Given the description of an element on the screen output the (x, y) to click on. 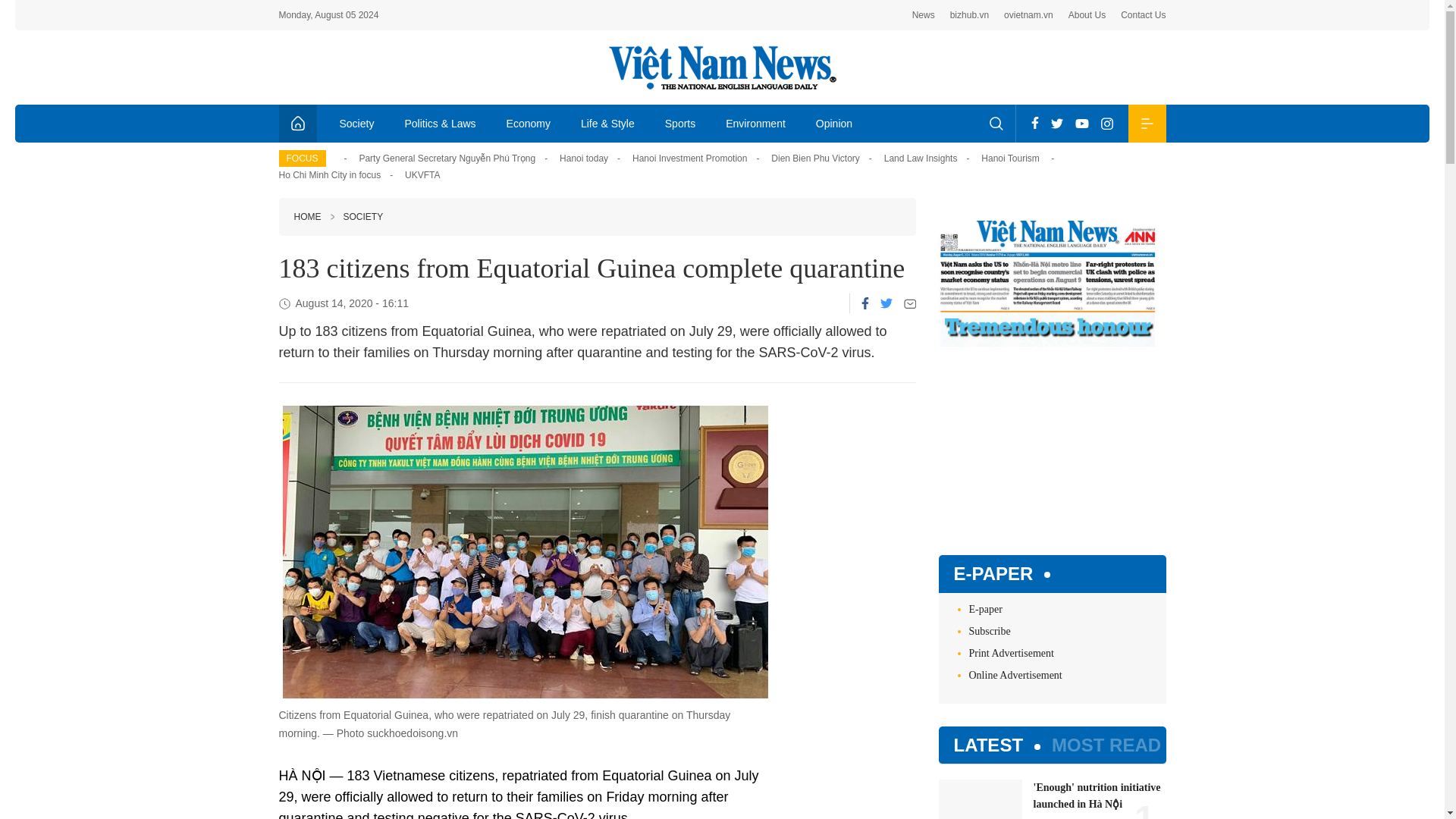
Email (909, 303)
Instagram (1106, 123)
About Us (1086, 15)
Contact Us (1143, 15)
Twitter (1056, 122)
Economy (529, 123)
bizhub.vn (969, 15)
Environment (755, 123)
Society (357, 123)
Opinion (833, 123)
